Given the description of an element on the screen output the (x, y) to click on. 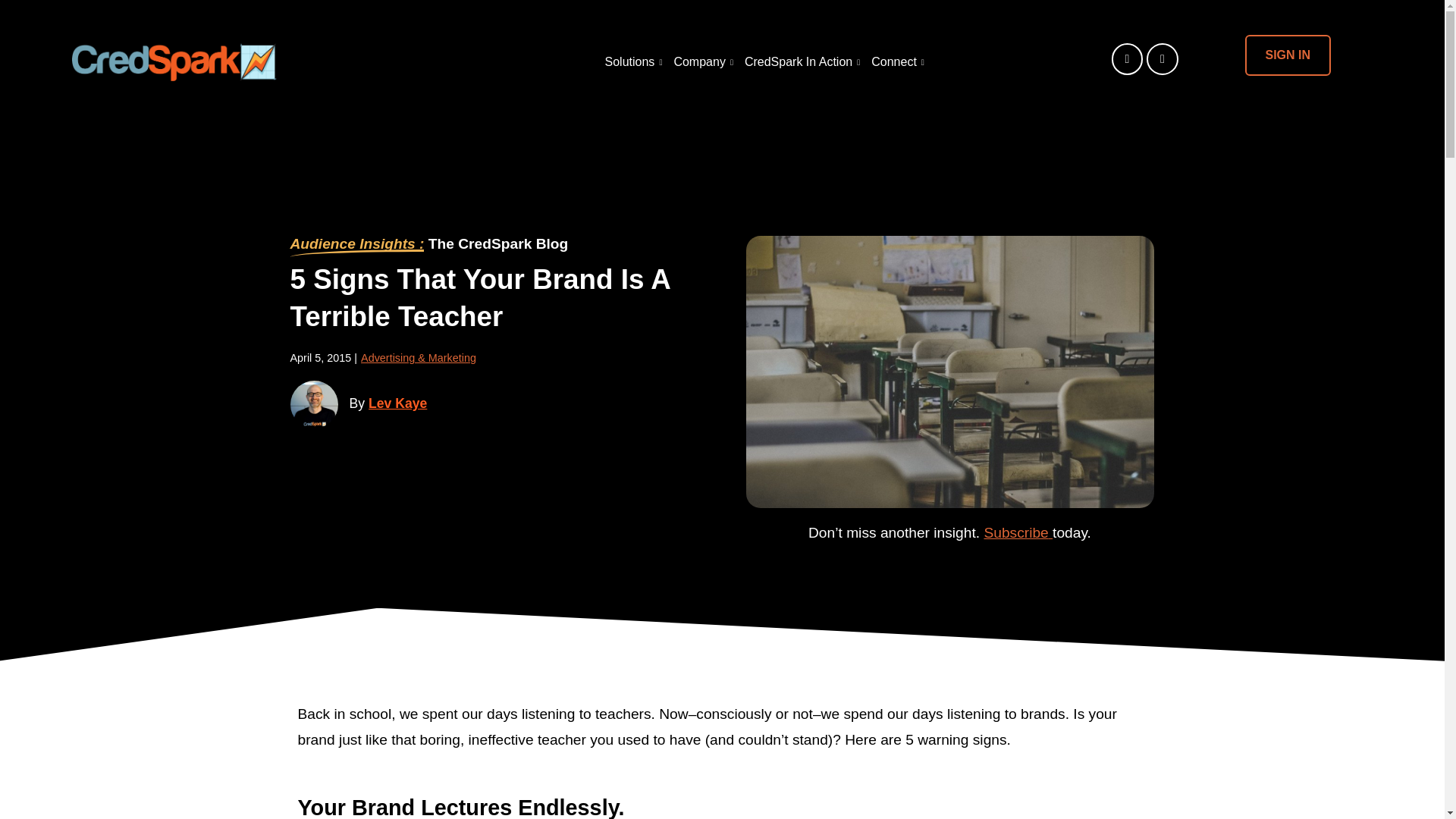
Connect (895, 62)
Solutions (631, 62)
Company (700, 62)
CredSpark In Action (799, 62)
